Given the description of an element on the screen output the (x, y) to click on. 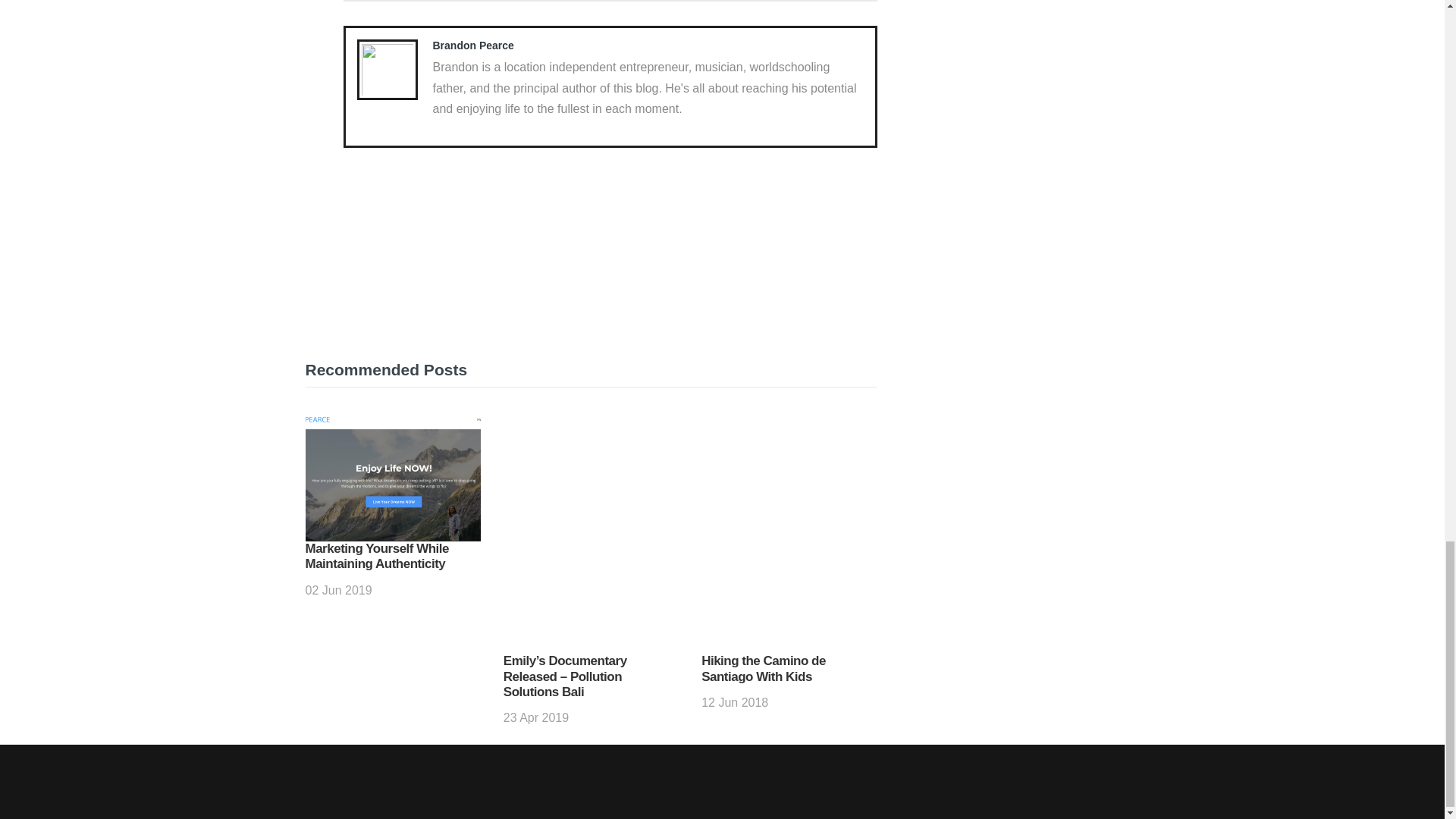
Posts by Brandon Pearce (472, 45)
